Given the description of an element on the screen output the (x, y) to click on. 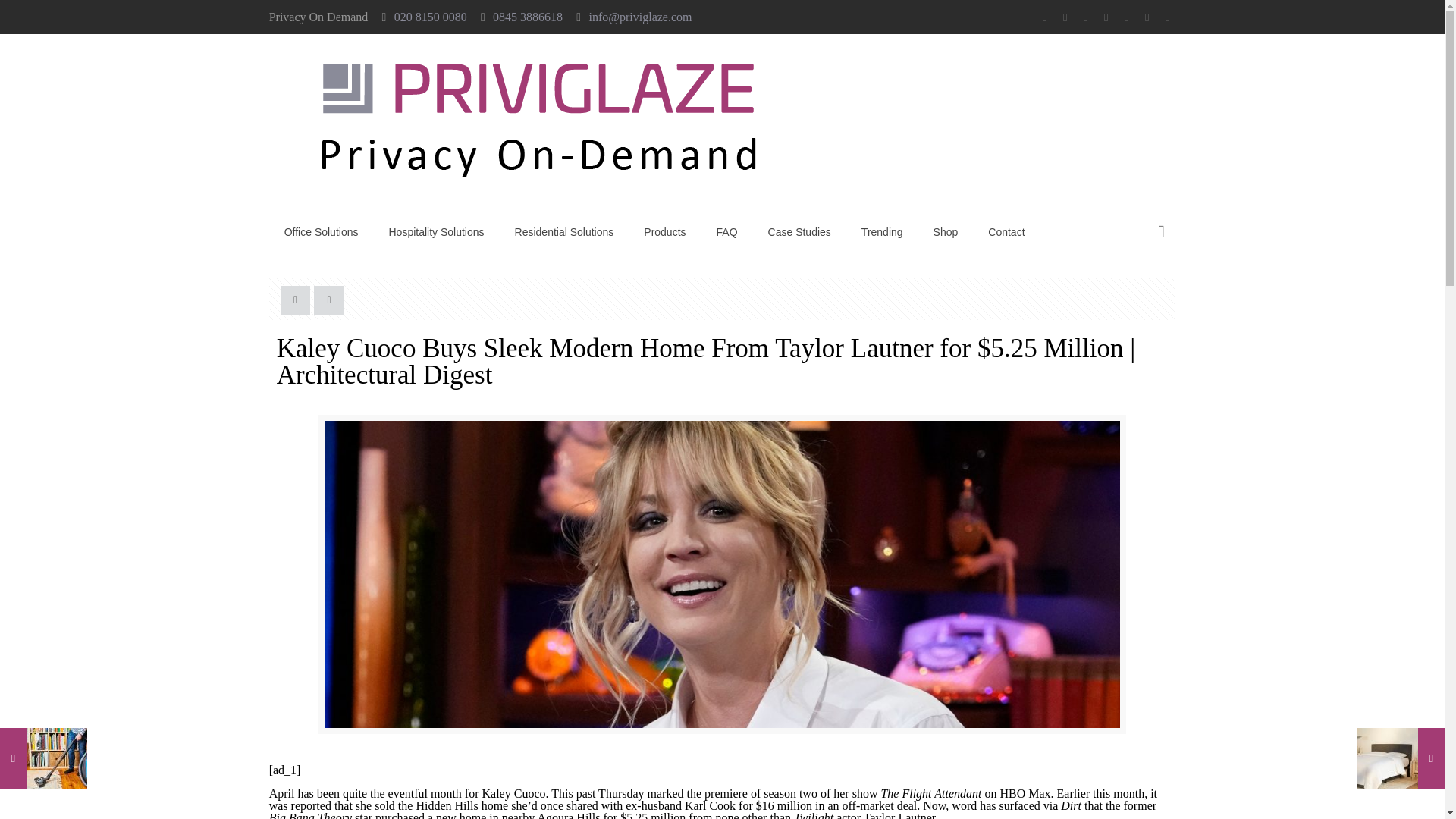
Priviglaze Smart Glass UK (538, 121)
Contact (1005, 231)
Office Solutions (321, 231)
020 8150 0080 (430, 16)
Vimeo (1085, 17)
Trending (881, 231)
Twitter (1065, 17)
YouTube (1105, 17)
Pinterest (1146, 17)
Instagram (1166, 17)
LinkedIn (1126, 17)
Residential Solutions (563, 231)
Facebook (1044, 17)
0845 3886618 (527, 16)
